Given the description of an element on the screen output the (x, y) to click on. 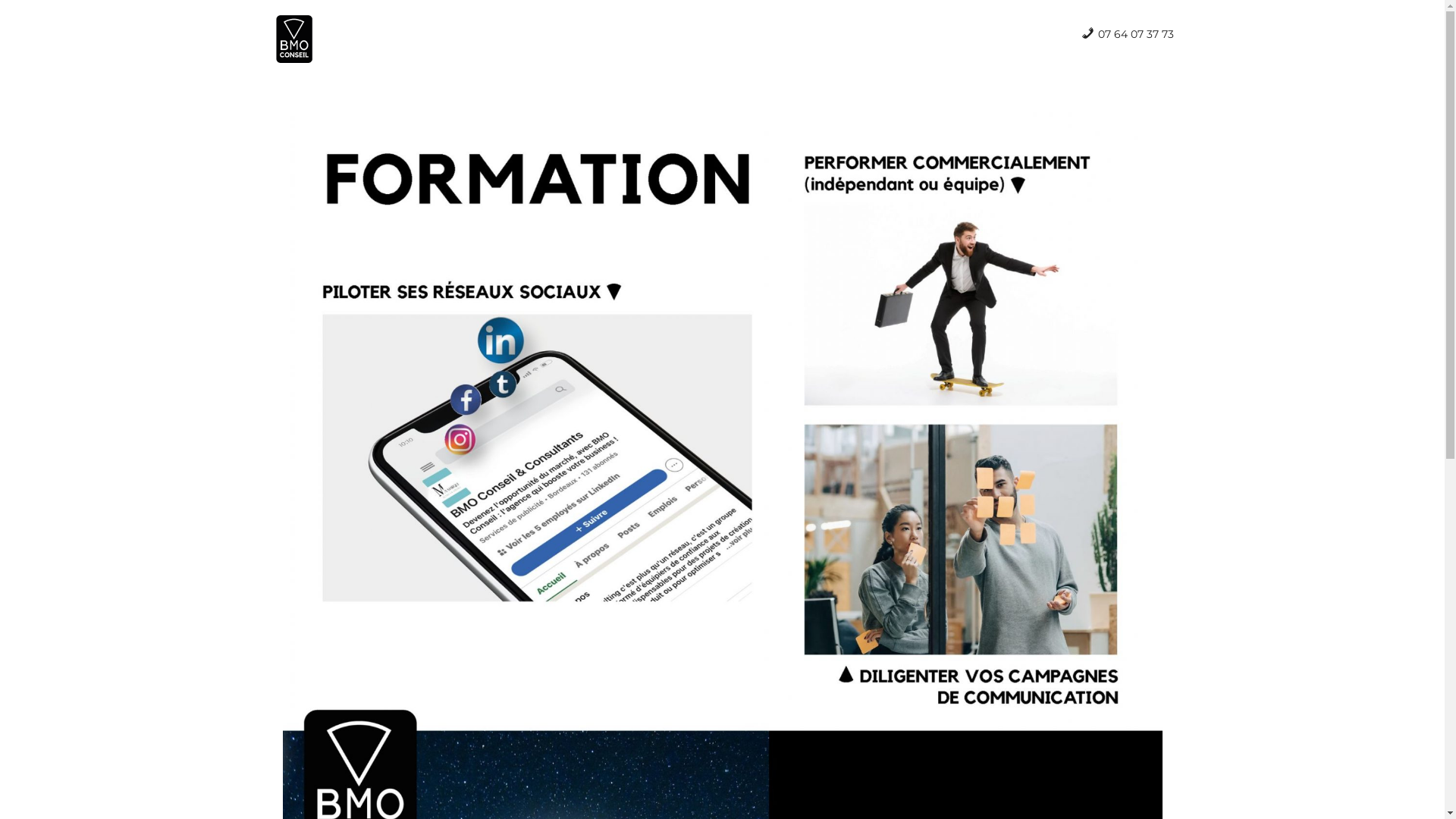
07 64 07 37 73 Element type: text (1127, 34)
